Given the description of an element on the screen output the (x, y) to click on. 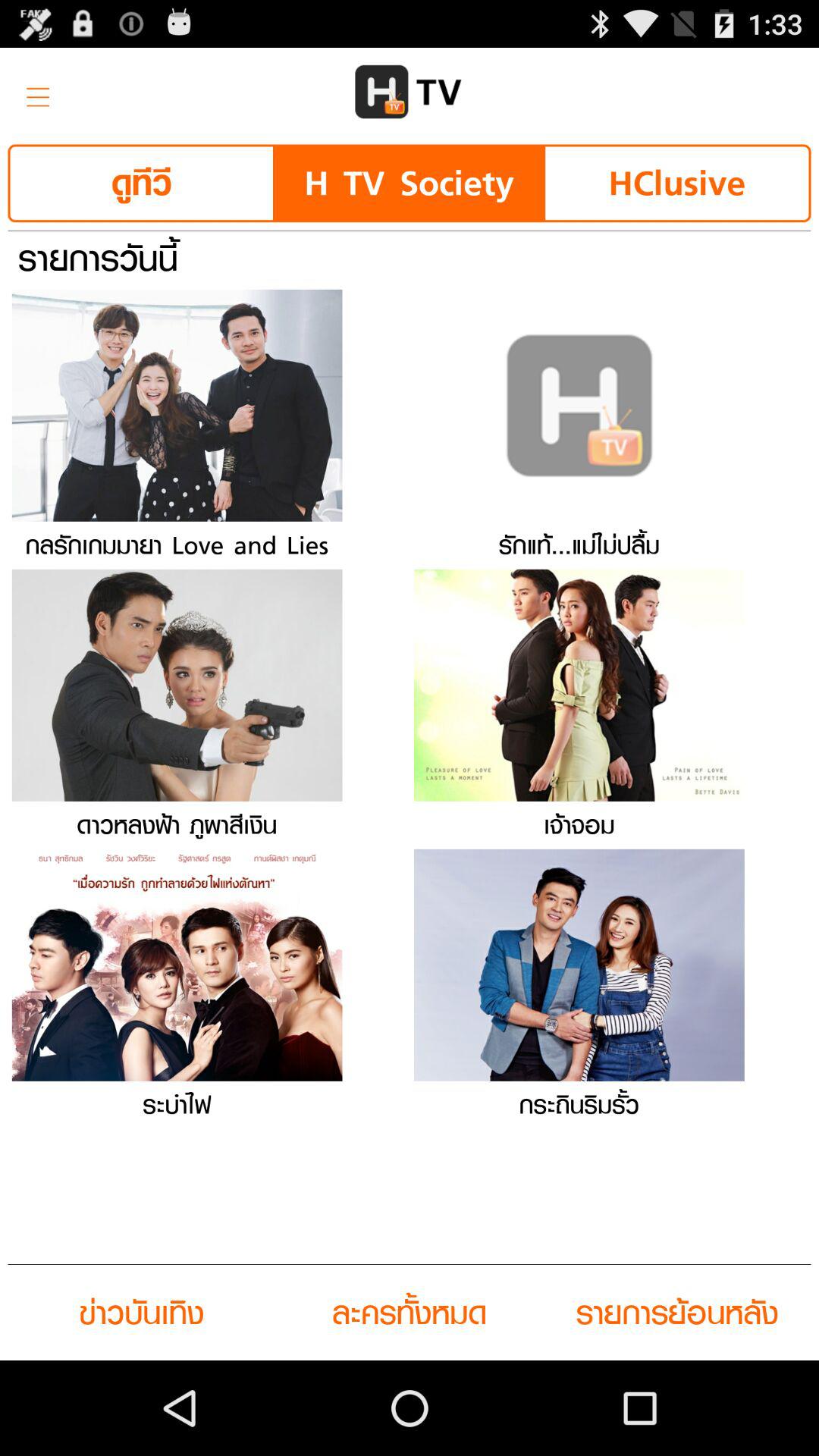
choose icon next to the h tv society button (677, 183)
